Given the description of an element on the screen output the (x, y) to click on. 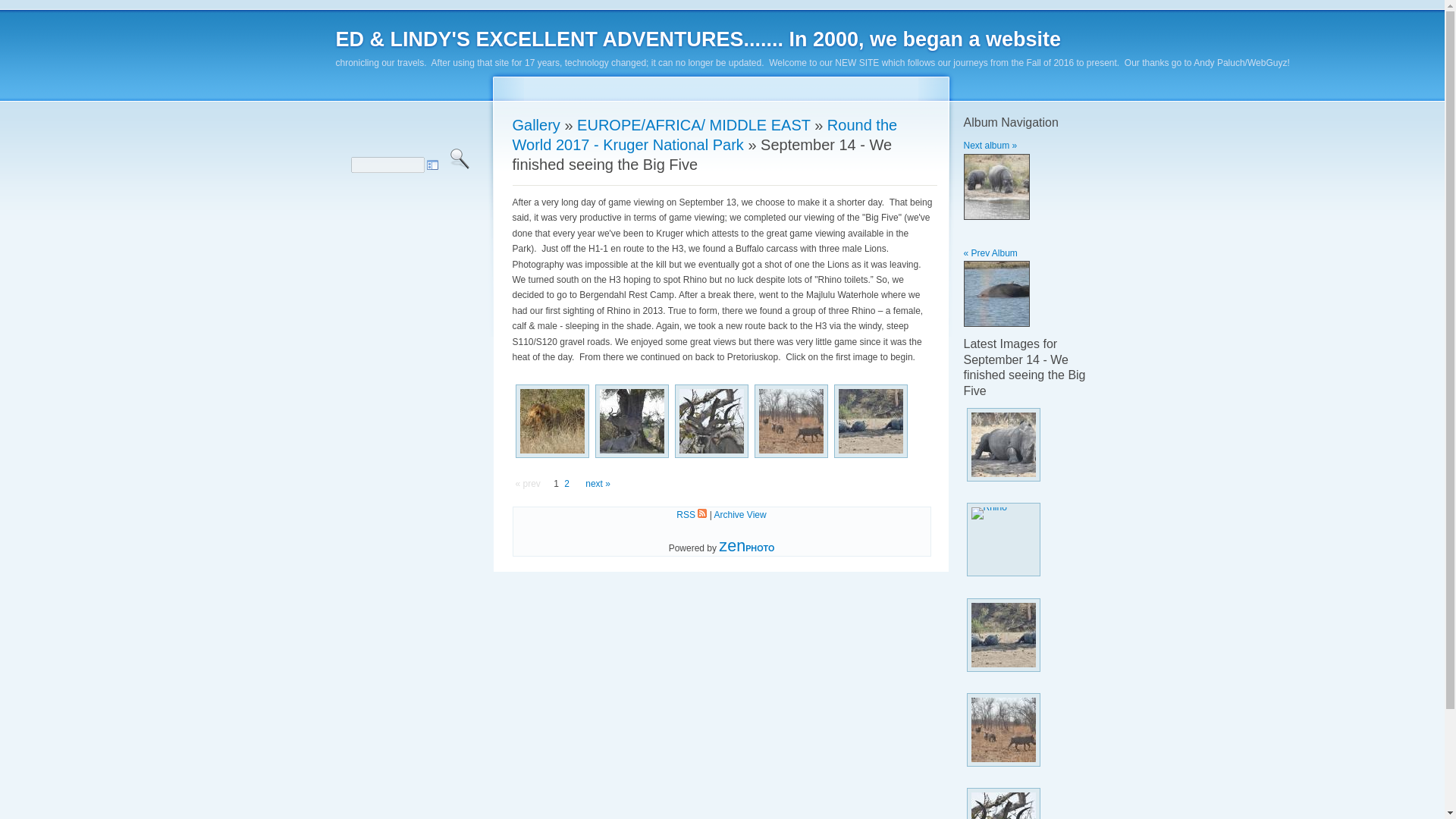
Gallery (536, 125)
Next album (995, 183)
Gallery Index (697, 38)
Prev Album (995, 291)
2 (566, 483)
Gallery (536, 125)
Next Page (597, 483)
Kudus (711, 420)
Search (459, 157)
Rhino Family (870, 420)
Round the World 2017 - Kruger National Park (705, 135)
Archive View (740, 514)
RSS (691, 514)
search options (432, 164)
Kudus (631, 420)
